Given the description of an element on the screen output the (x, y) to click on. 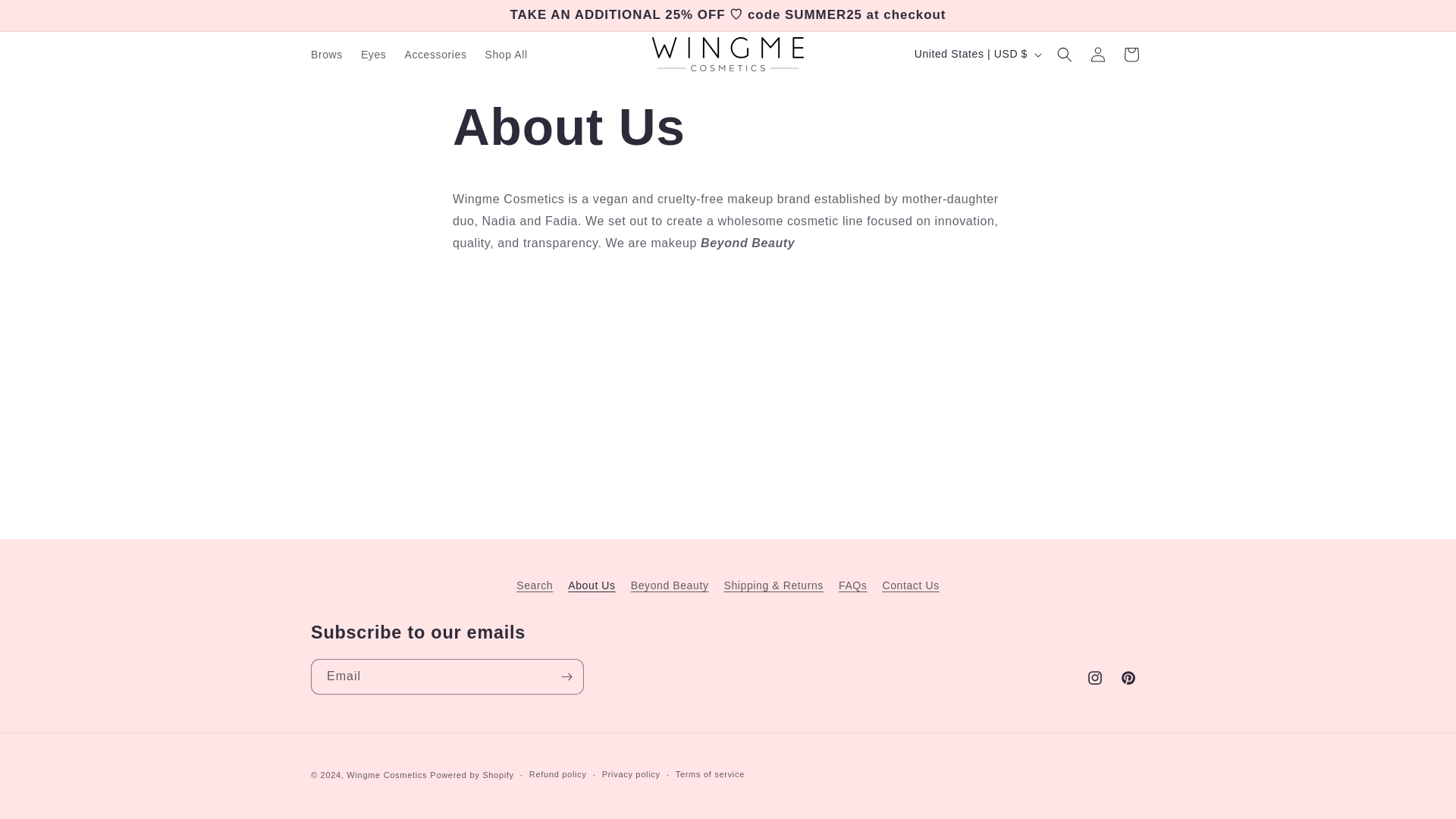
Skip to content (45, 17)
Terms of service (709, 774)
Powered by Shopify (471, 774)
Shop All (506, 54)
Pinterest (1128, 677)
Refund policy (557, 774)
Wingme Cosmetics (386, 774)
Brows (326, 54)
Privacy policy (631, 774)
Accessories (435, 54)
